Given the description of an element on the screen output the (x, y) to click on. 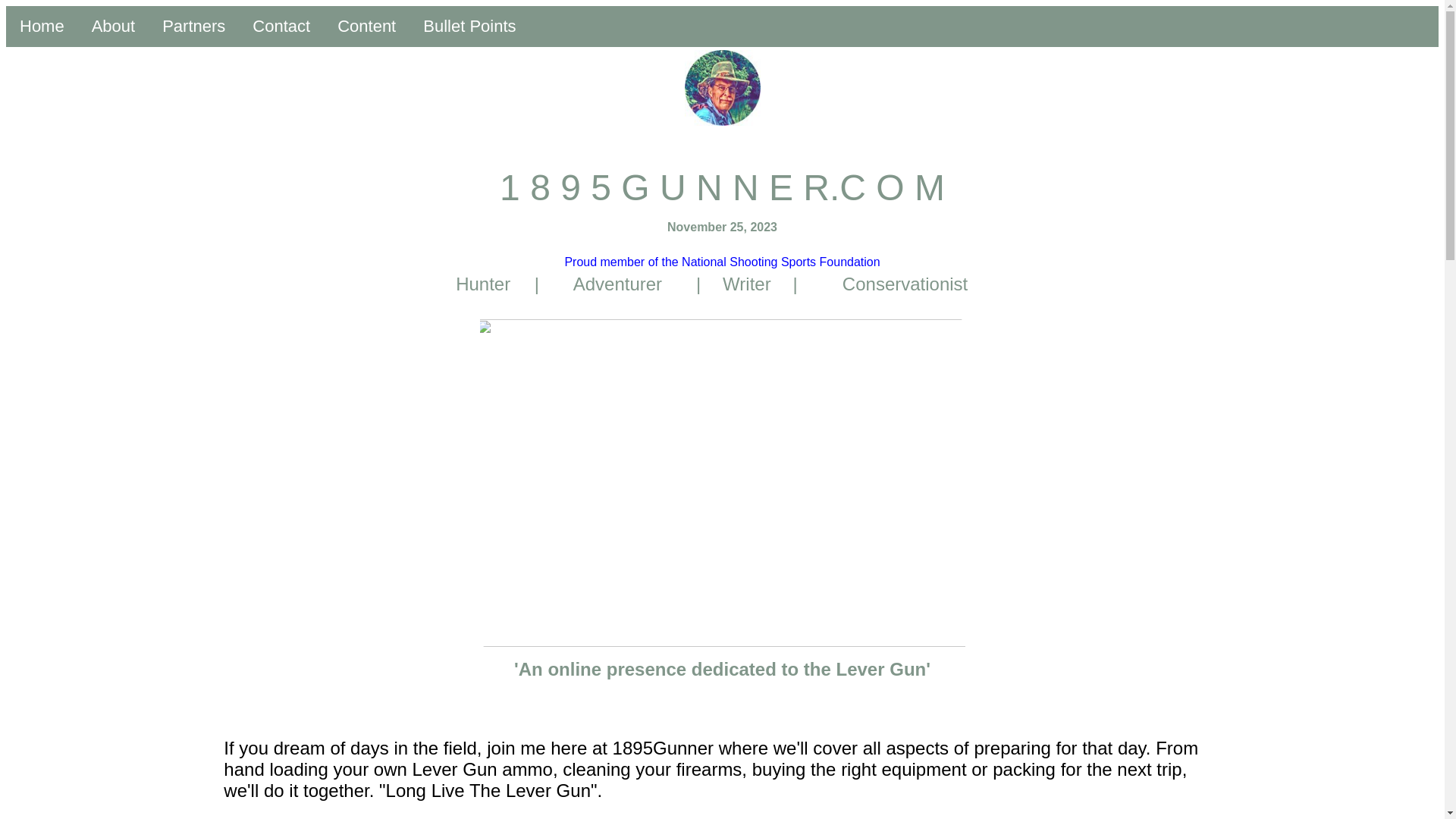
Contact Element type: text (280, 26)
Bullet Points Element type: text (469, 26)
1895Gunner Element type: hover (721, 87)
Partners Element type: text (193, 26)
Content Element type: text (366, 26)
Home Element type: text (42, 26)
About Element type: text (113, 26)
